Given the description of an element on the screen output the (x, y) to click on. 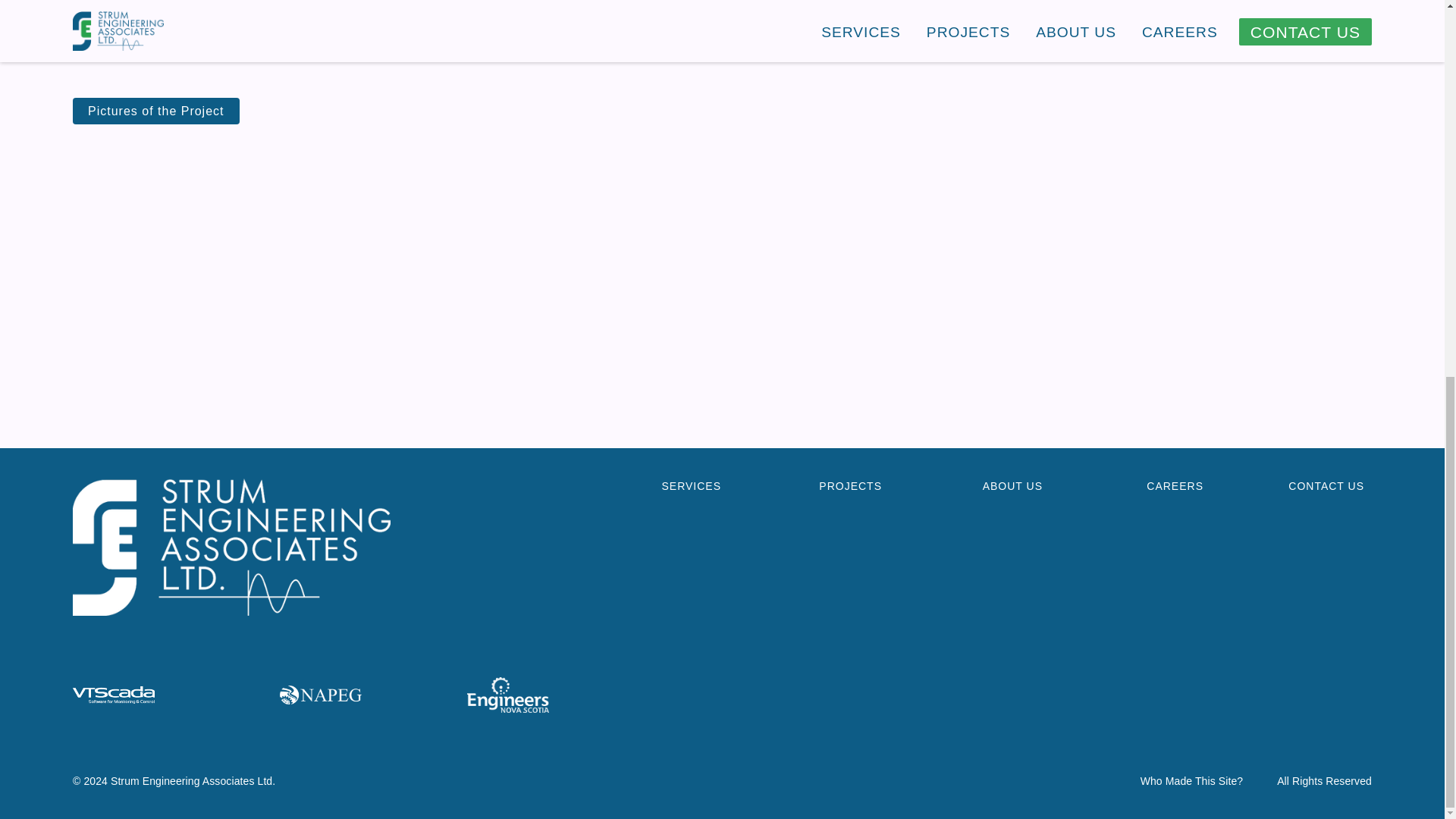
SERVICES (574, 485)
PROJECTS (815, 485)
CONTACT US (1297, 485)
CAREERS (1136, 485)
Who Made This Site? (1191, 780)
ABOUT US (975, 485)
